Given the description of an element on the screen output the (x, y) to click on. 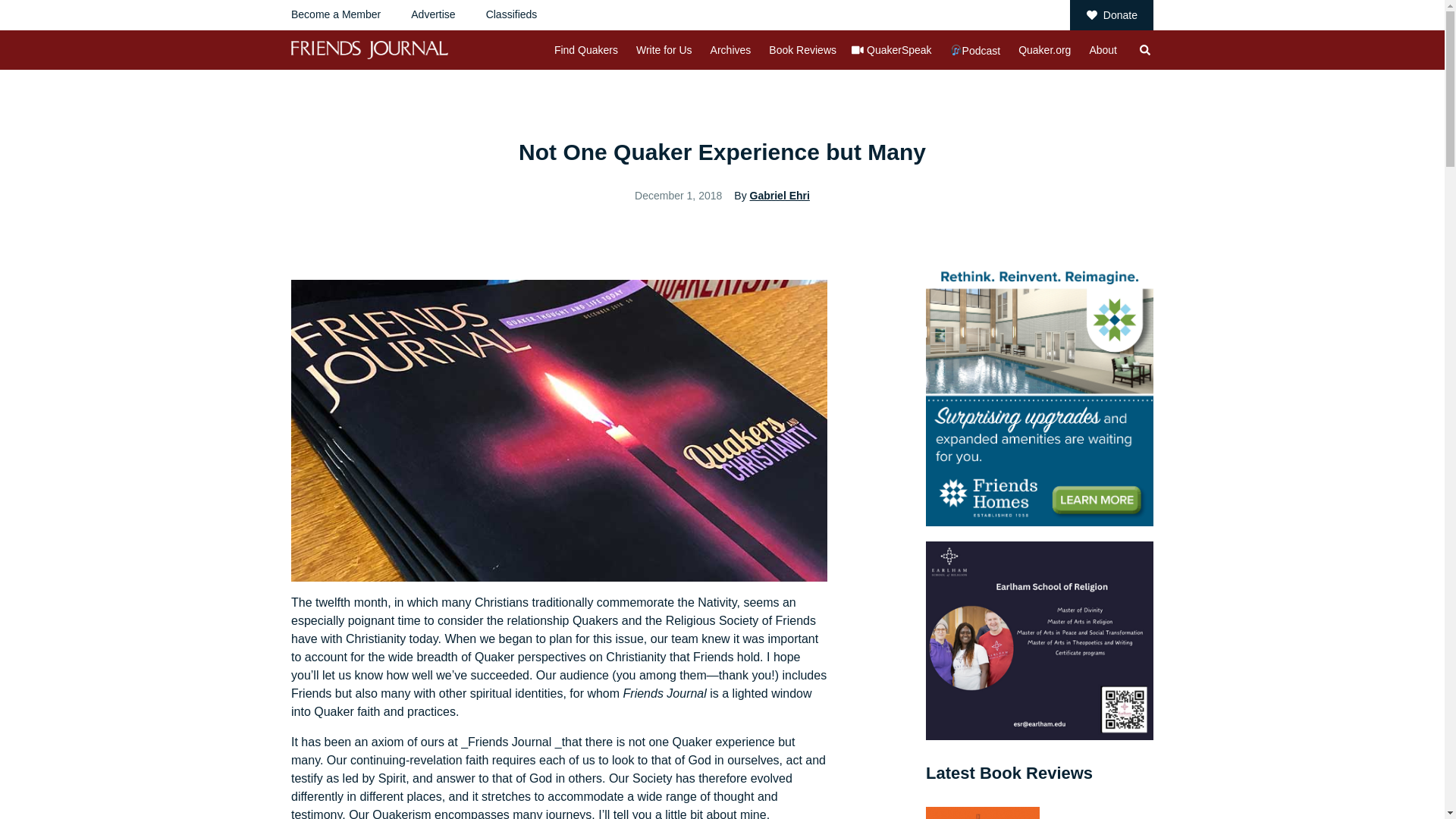
Quaker.org (1043, 50)
QuakerSpeak (898, 50)
Advertise (432, 14)
Become a Member (335, 14)
Classifieds (511, 14)
Write for Us (664, 50)
Podcast (975, 50)
Archives (730, 50)
About (1102, 50)
Book Reviews (801, 50)
Gabriel Ehri (779, 195)
Donate (1111, 15)
Find Quakers (585, 50)
